Given the description of an element on the screen output the (x, y) to click on. 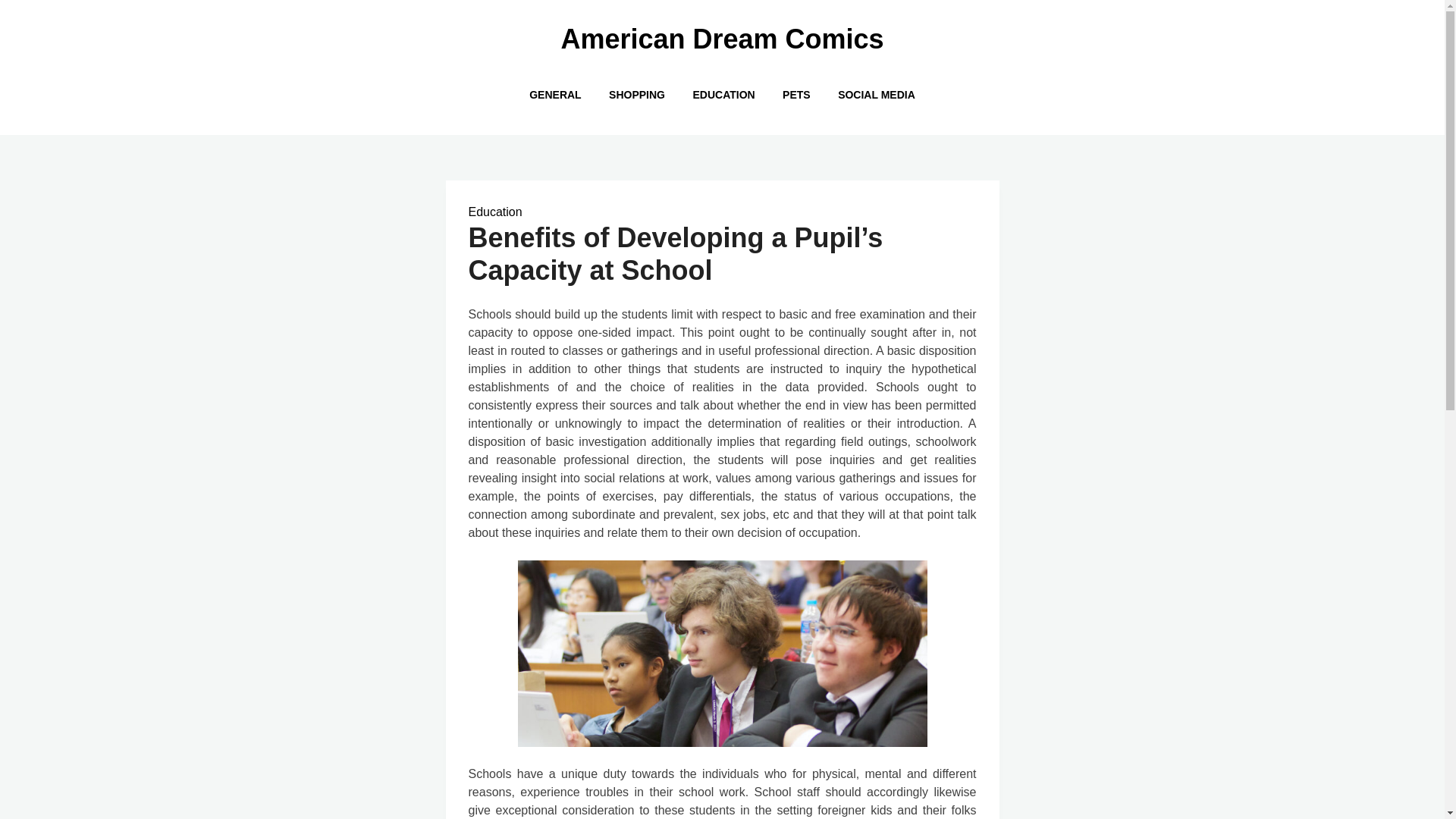
GENERAL (554, 94)
PETS (796, 94)
American Dream Comics (721, 38)
EDUCATION (723, 94)
SOCIAL MEDIA (876, 94)
SHOPPING (636, 94)
Education (495, 211)
